Given the description of an element on the screen output the (x, y) to click on. 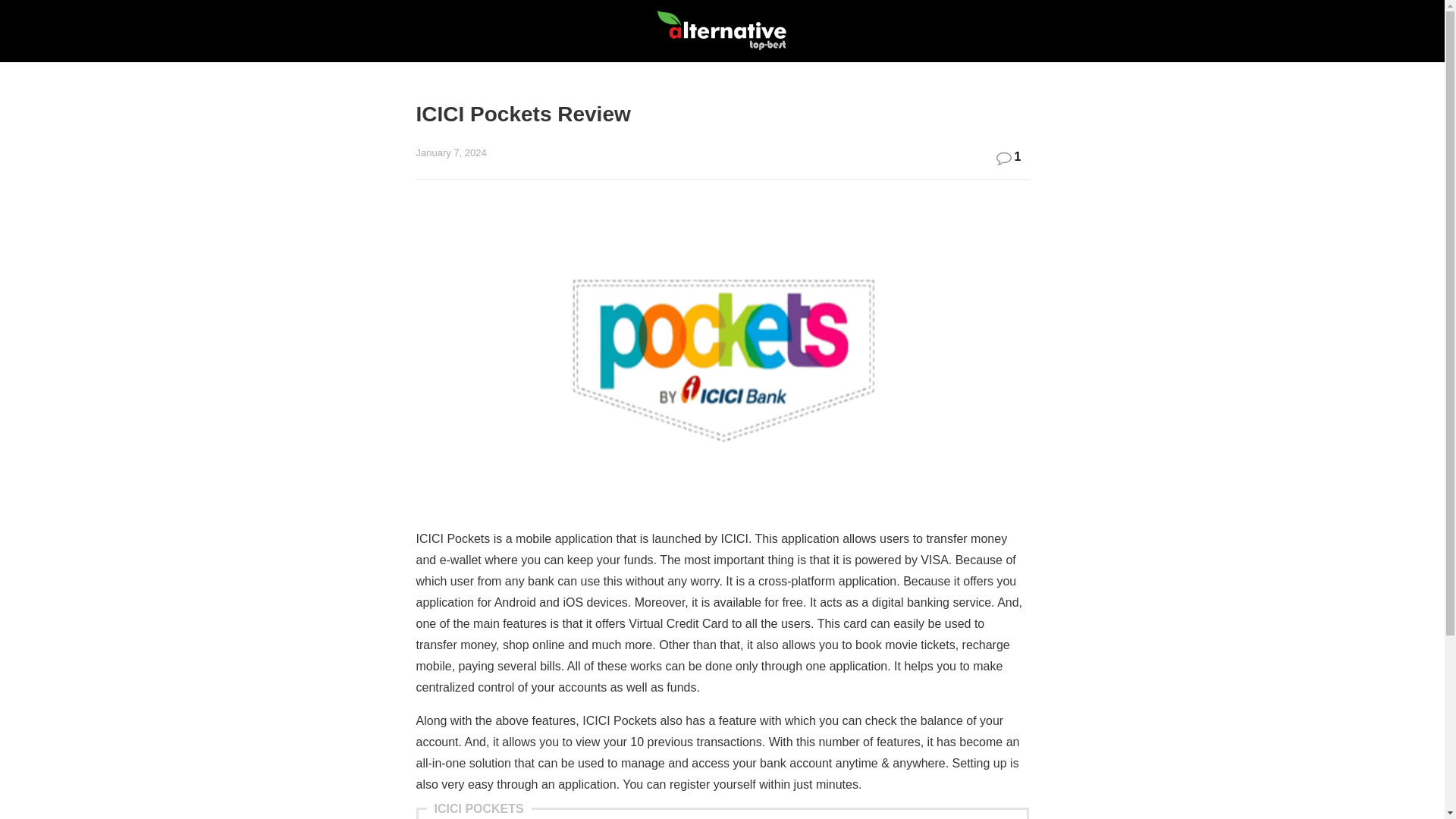
Top Best Alternative (720, 30)
